Given the description of an element on the screen output the (x, y) to click on. 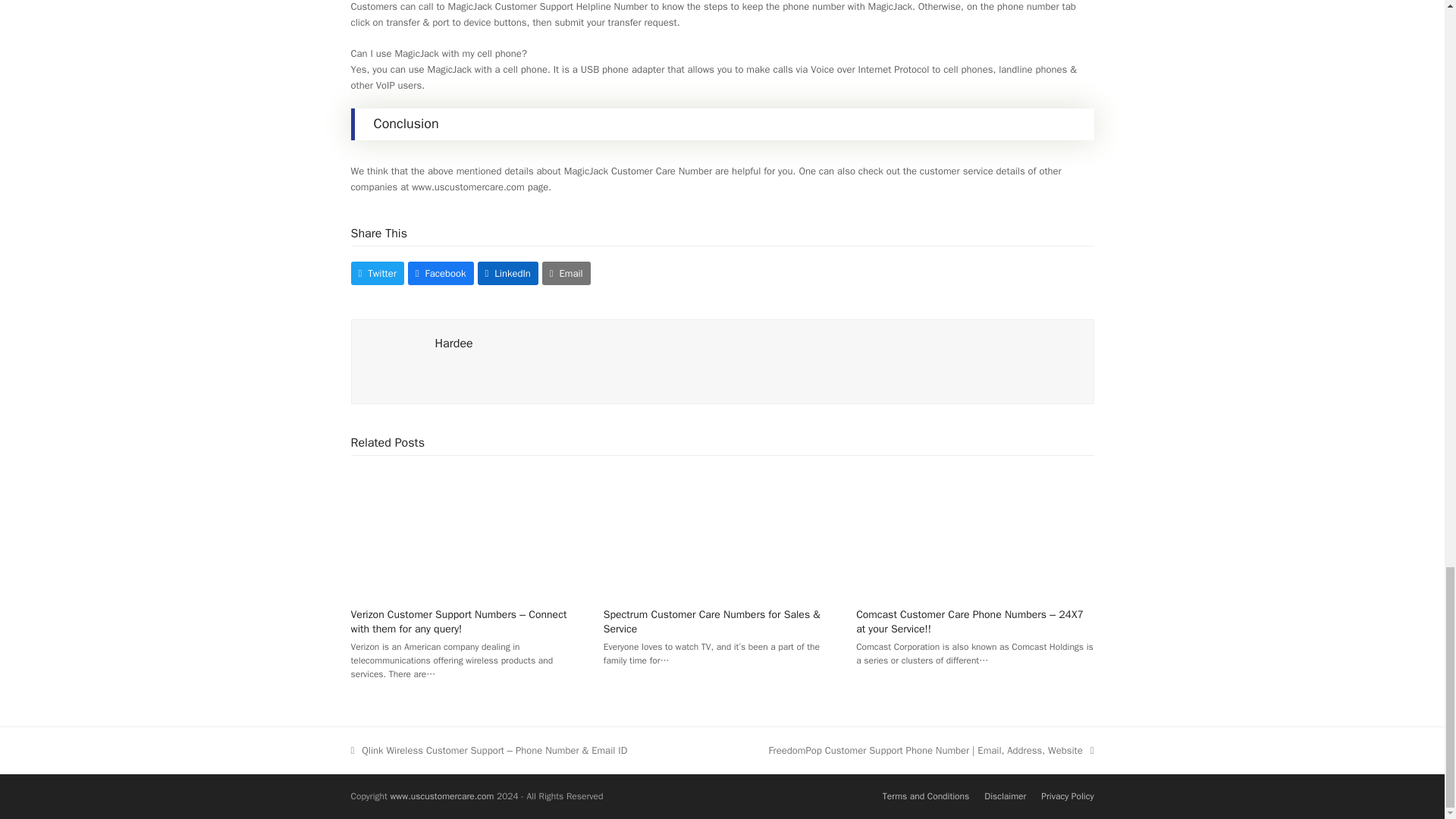
Visit Author Page (454, 343)
Terms and Conditions (925, 796)
LinkedIn (507, 273)
Facebook (440, 273)
Hardee (454, 343)
Email (566, 273)
Disclaimer (1005, 796)
Privacy Policy (1067, 796)
Twitter (376, 273)
Visit Author Page (393, 360)
